Given the description of an element on the screen output the (x, y) to click on. 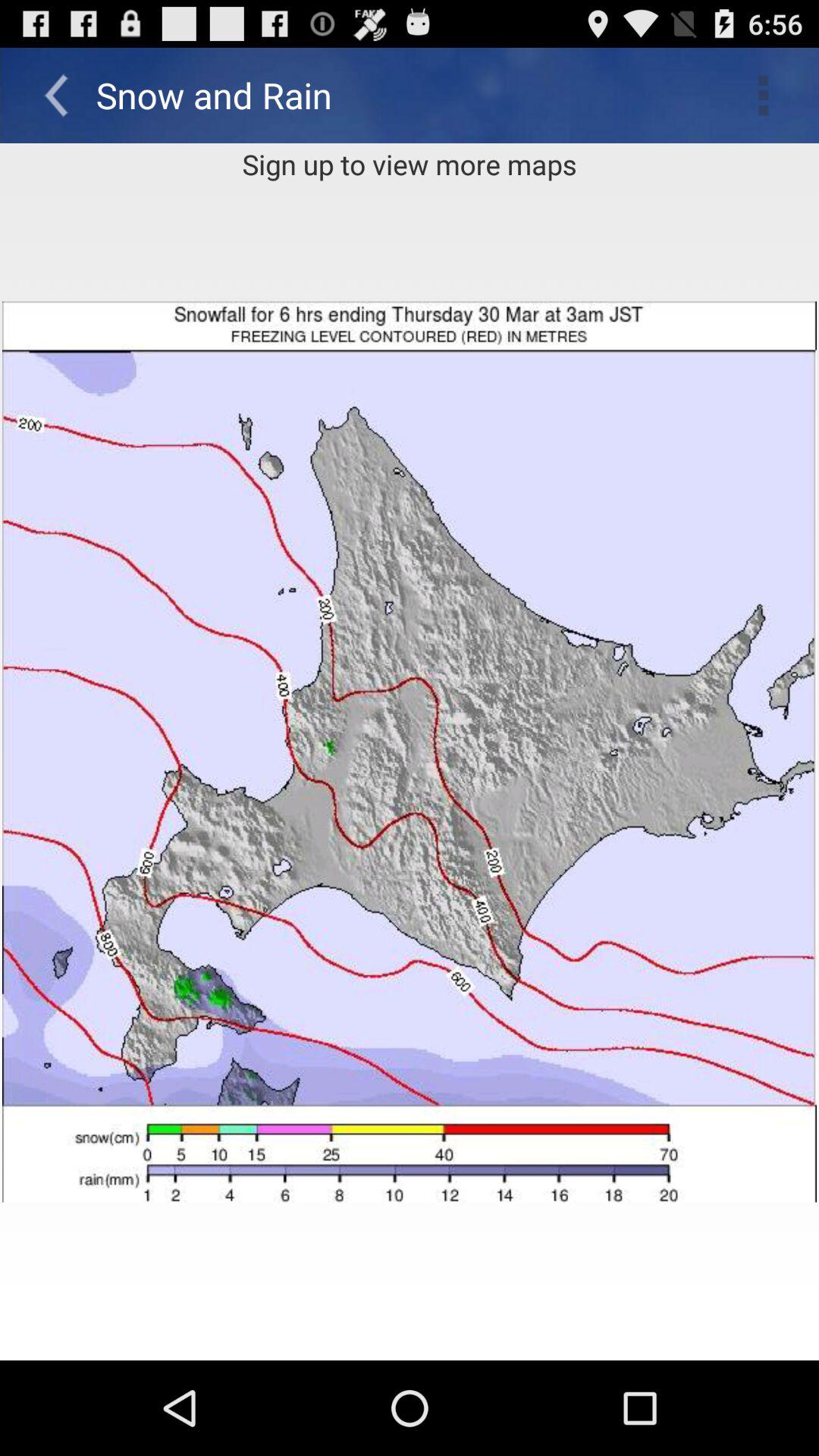
select the image (409, 751)
